Given the description of an element on the screen output the (x, y) to click on. 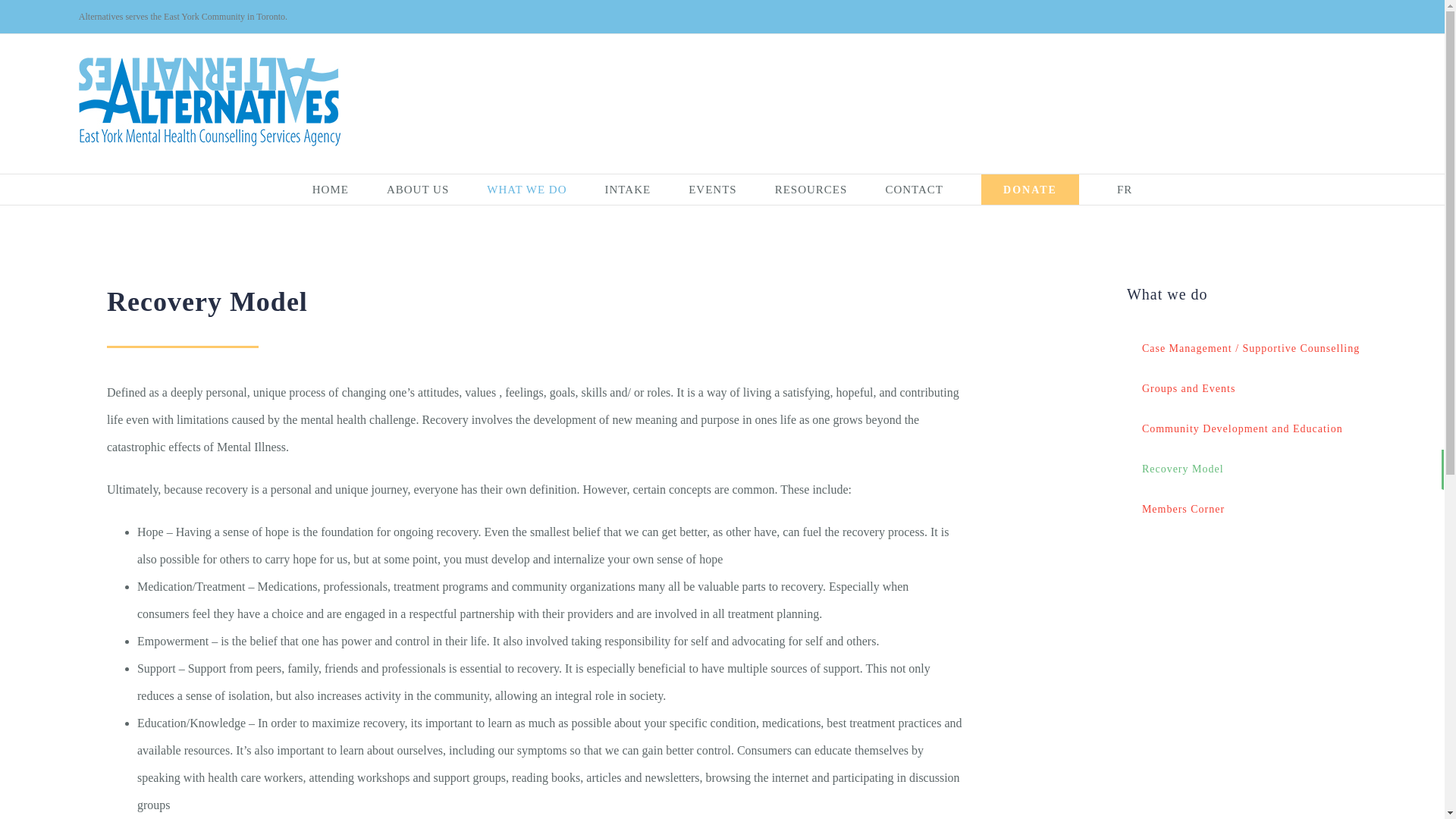
INTAKE (627, 189)
EVENTS (712, 189)
HOME (331, 189)
ABOUT US (417, 189)
DONATE (1029, 189)
CONTACT (914, 189)
RESOURCES (810, 189)
WHAT WE DO (526, 189)
Groups and Events (1285, 389)
